Given the description of an element on the screen output the (x, y) to click on. 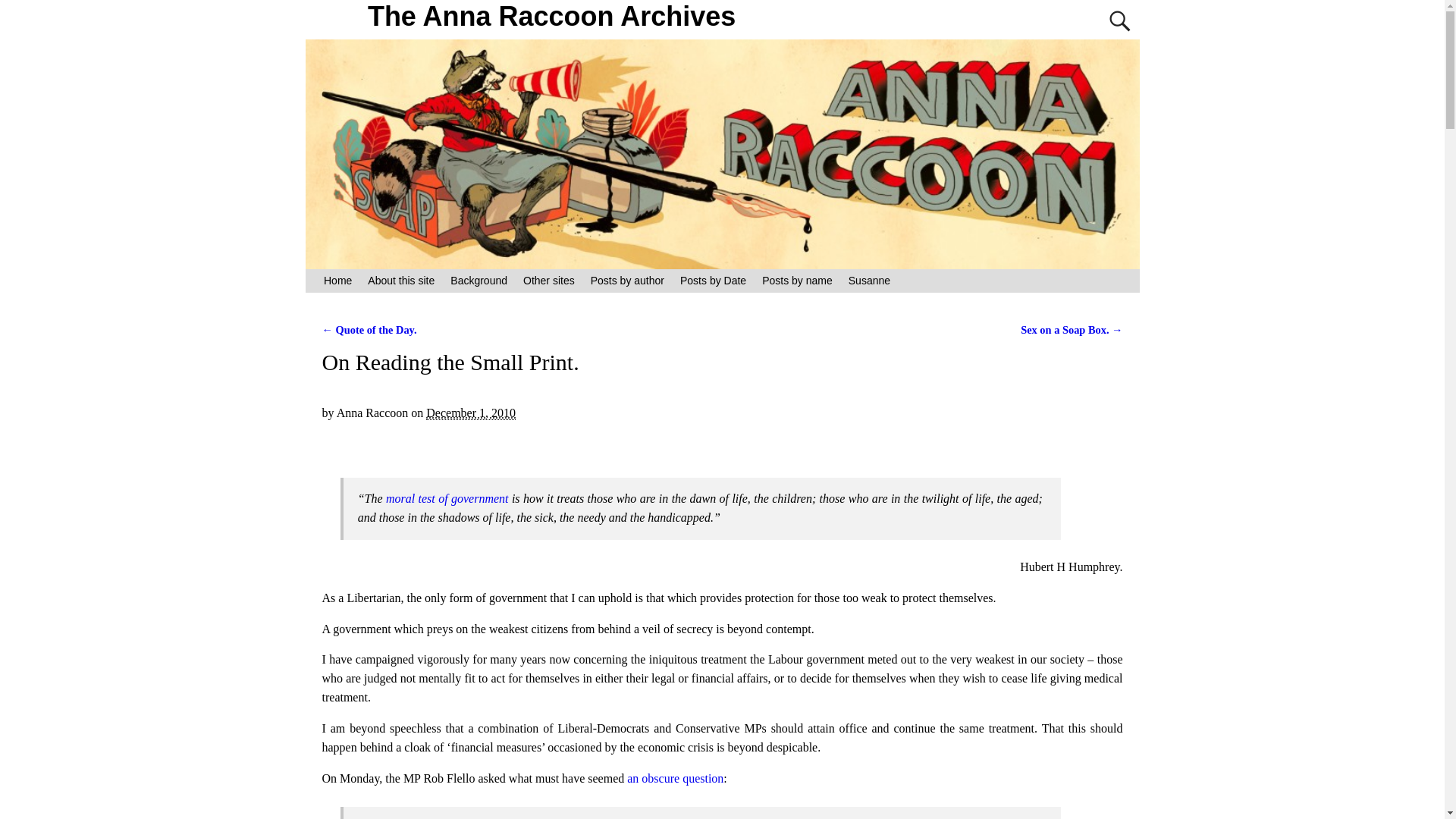
Background (478, 280)
Posts by name (797, 280)
The Anna Raccoon Archives (551, 15)
Home (337, 280)
The Anna Raccoon Archives (551, 15)
Other sites (549, 280)
moral test of government (446, 498)
Susanne (869, 280)
2010-12-01 (470, 413)
About this site (400, 280)
Posts by Date (712, 280)
an obscure question (675, 778)
Posts by author (626, 280)
